Given the description of an element on the screen output the (x, y) to click on. 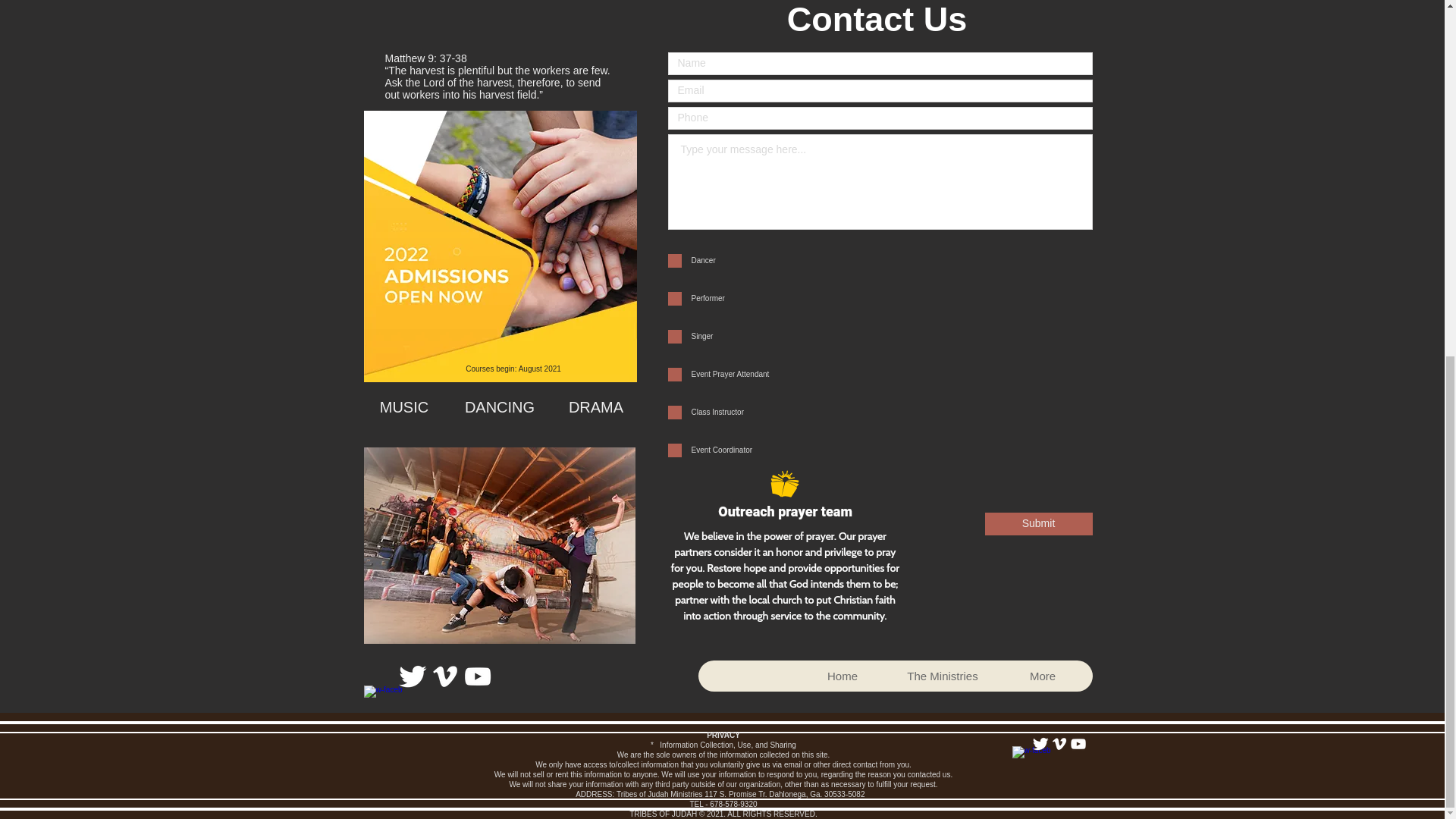
Home (841, 675)
Submit (1038, 523)
The Ministries (941, 675)
